Given the description of an element on the screen output the (x, y) to click on. 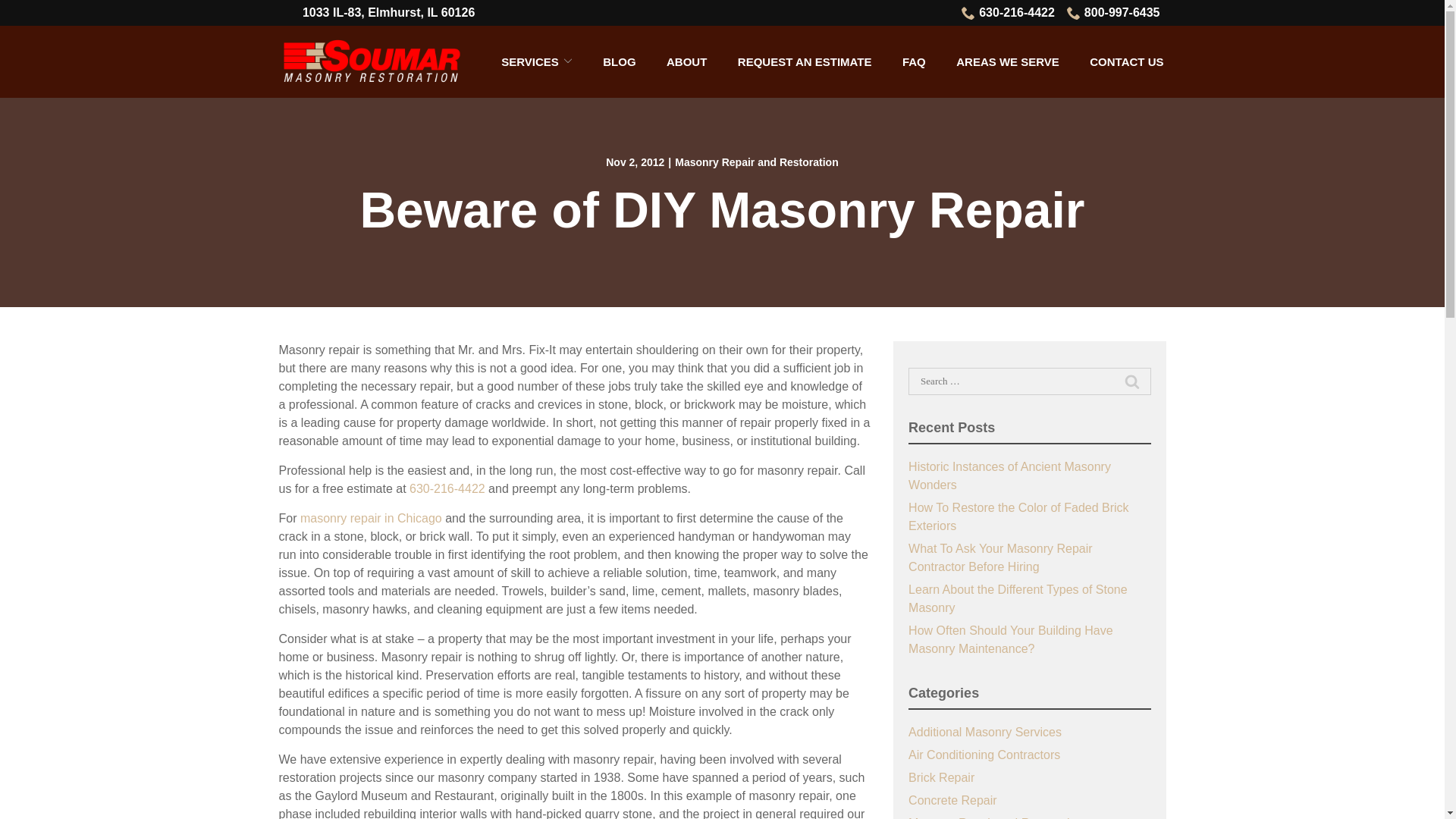
AREAS WE SERVE (1007, 60)
ABOUT (686, 60)
1033 IL-83, Elmhurst, IL 60126 (388, 13)
REQUEST AN ESTIMATE (805, 60)
800-997-6435 (1113, 13)
SERVICES (536, 60)
FAQ (914, 60)
630-216-4422 (1007, 13)
BLOG (618, 60)
CONTACT US (1126, 60)
